Given the description of an element on the screen output the (x, y) to click on. 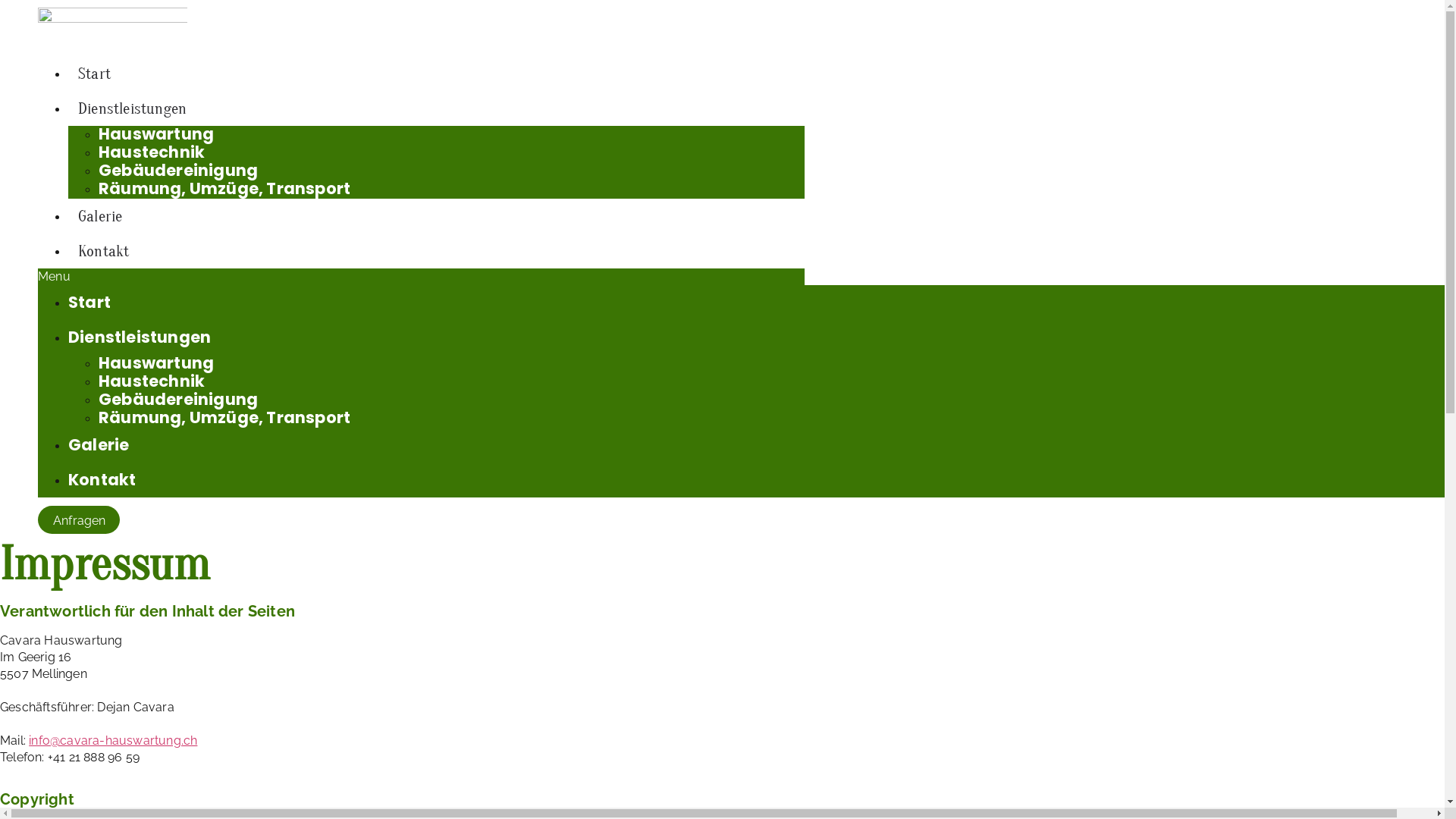
Hauswartung Element type: text (155, 133)
Anfragen Element type: text (78, 519)
Skip to content Element type: text (0, 0)
Galerie Element type: text (99, 216)
Dienstleistungen Element type: text (132, 108)
Kontakt Element type: text (103, 250)
Start Element type: text (94, 73)
Dienstleistungen Element type: text (139, 337)
info@cavara-hauswartung.ch Element type: text (112, 740)
Kontakt Element type: text (101, 479)
Galerie Element type: text (98, 444)
Haustechnik Element type: text (151, 381)
Hauswartung Element type: text (155, 362)
Haustechnik Element type: text (151, 152)
Start Element type: text (89, 302)
